Given the description of an element on the screen output the (x, y) to click on. 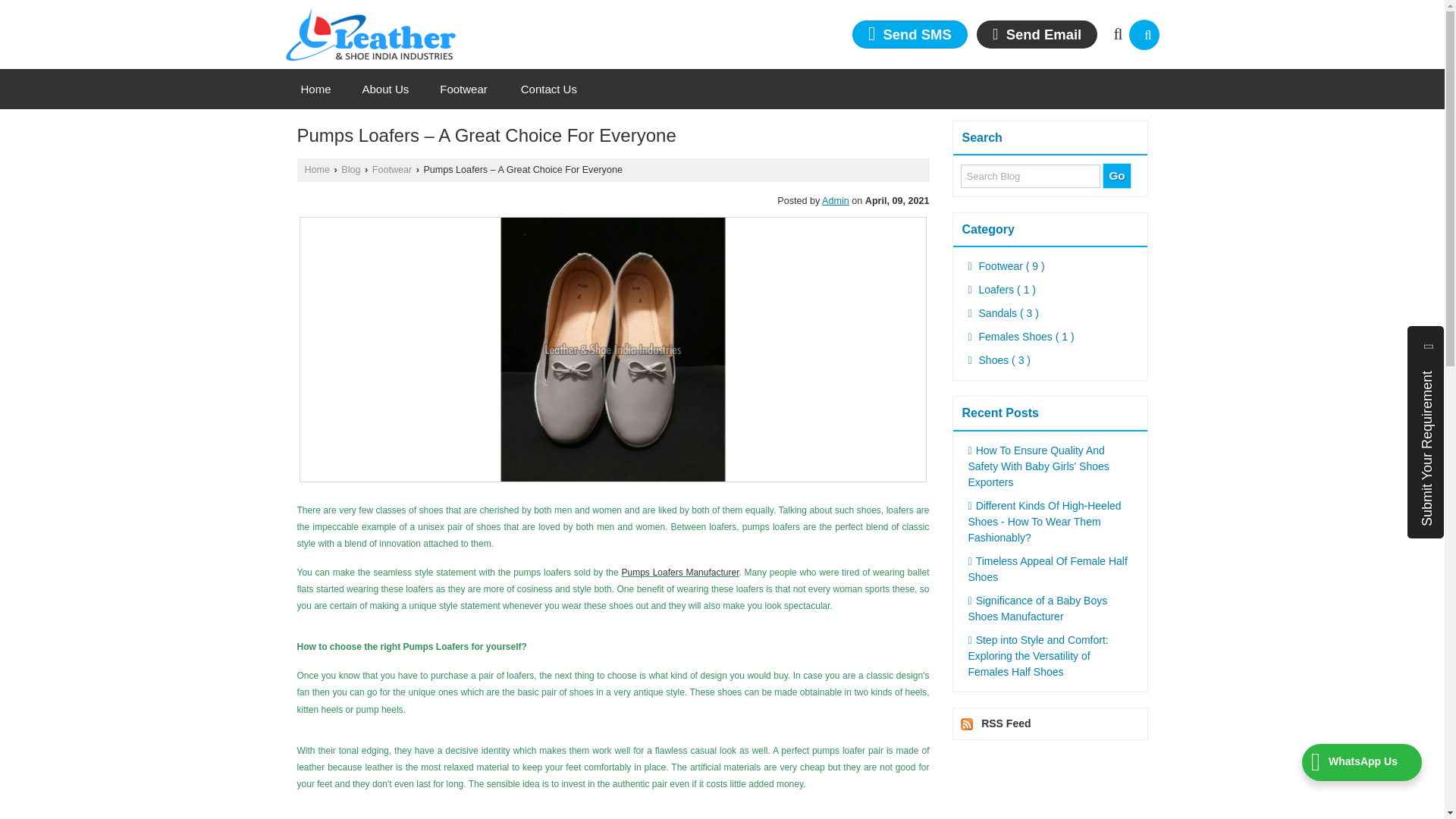
Pumps Loafers Manufacturer (680, 572)
About Us (386, 88)
Contact Us (548, 88)
Home (315, 88)
Send Email (1036, 34)
Footwear (465, 88)
Search (1143, 34)
Go (1116, 175)
Footwear (392, 169)
Send SMS (909, 34)
